Given the description of an element on the screen output the (x, y) to click on. 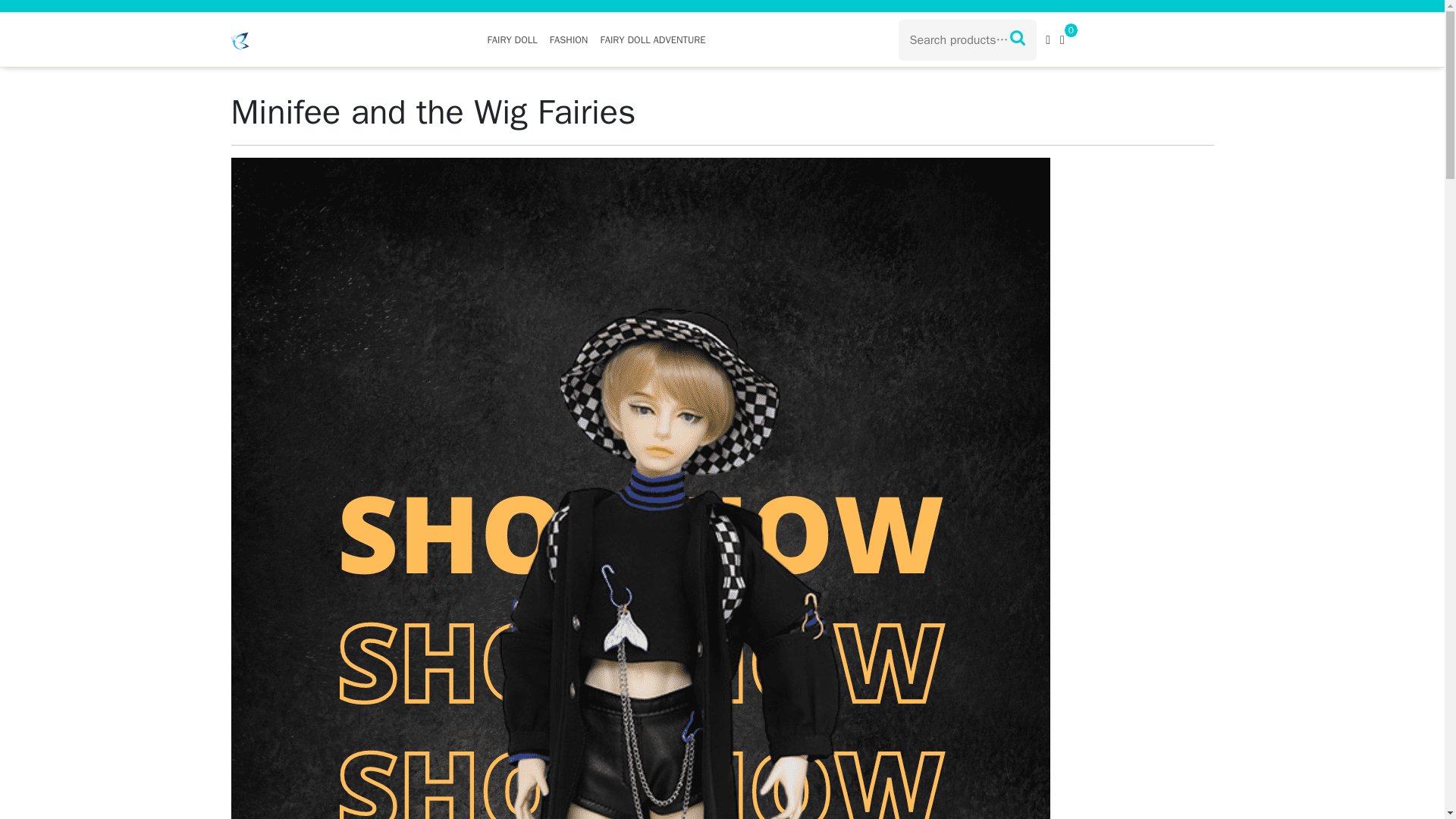
FAIRY DOLL (511, 39)
FAIRY DOLL ADVENTURE (652, 39)
FASHION (568, 39)
